Given the description of an element on the screen output the (x, y) to click on. 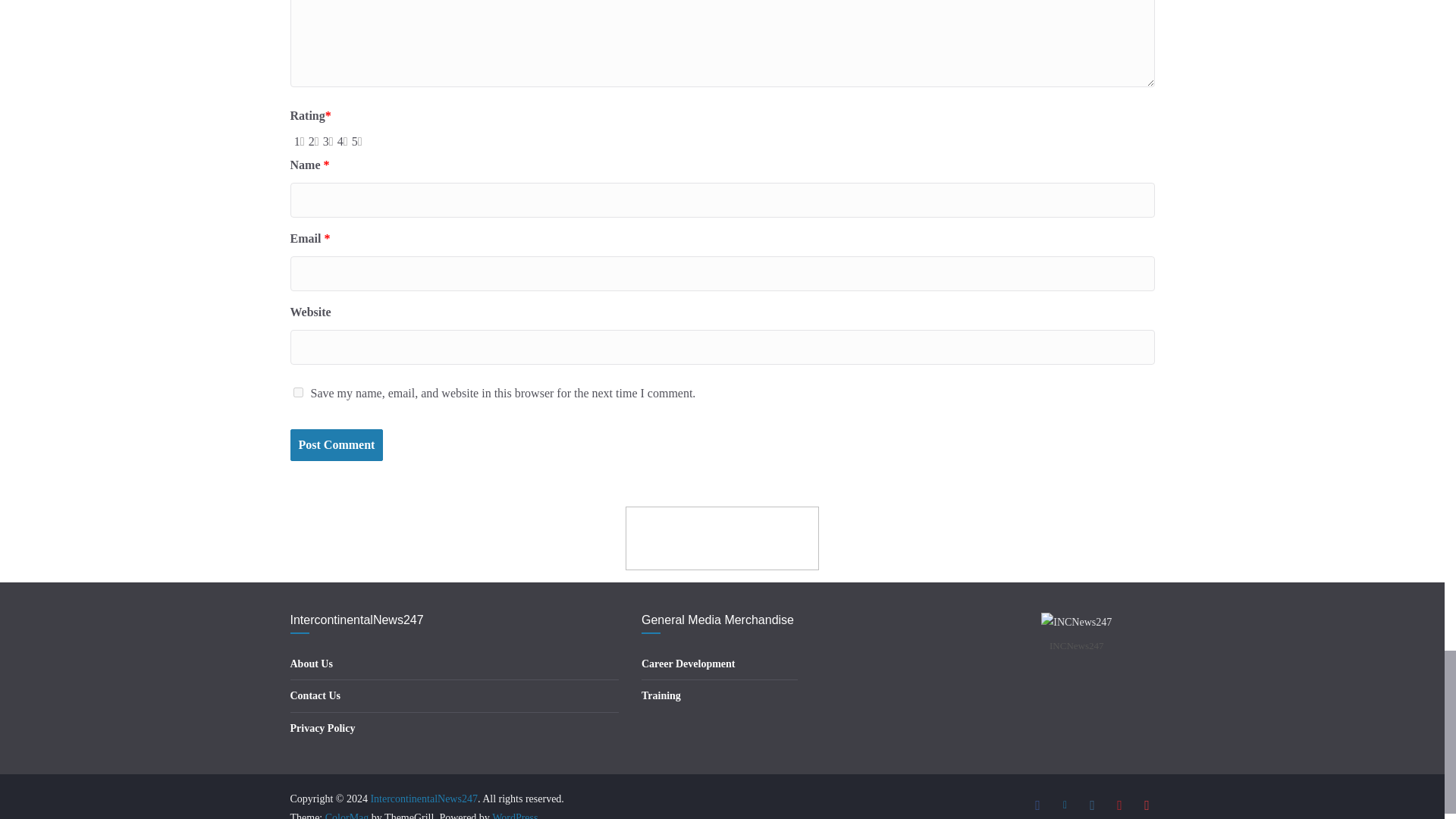
Post Comment (335, 445)
yes (297, 392)
